Given the description of an element on the screen output the (x, y) to click on. 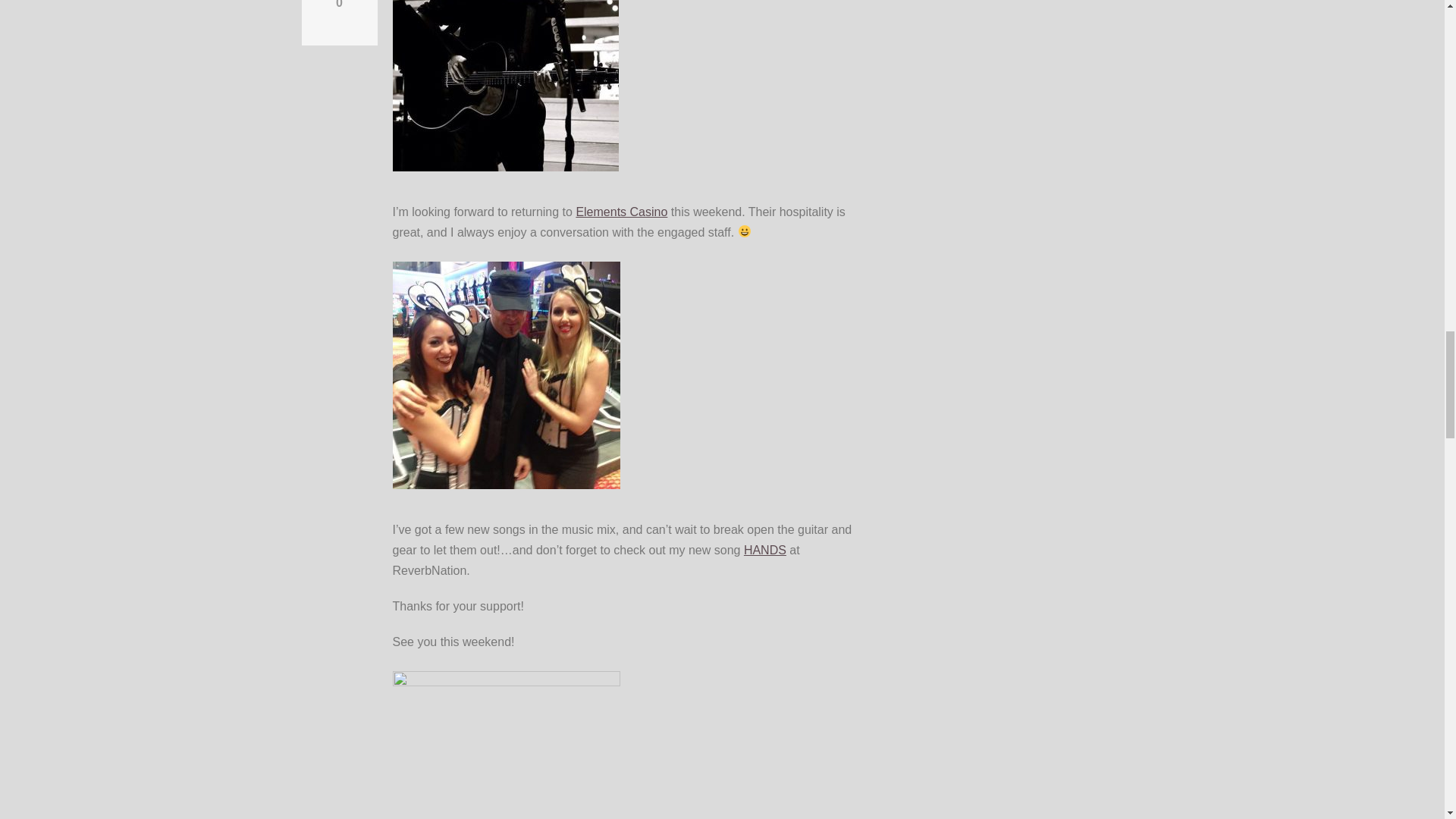
0 (339, 4)
